Given the description of an element on the screen output the (x, y) to click on. 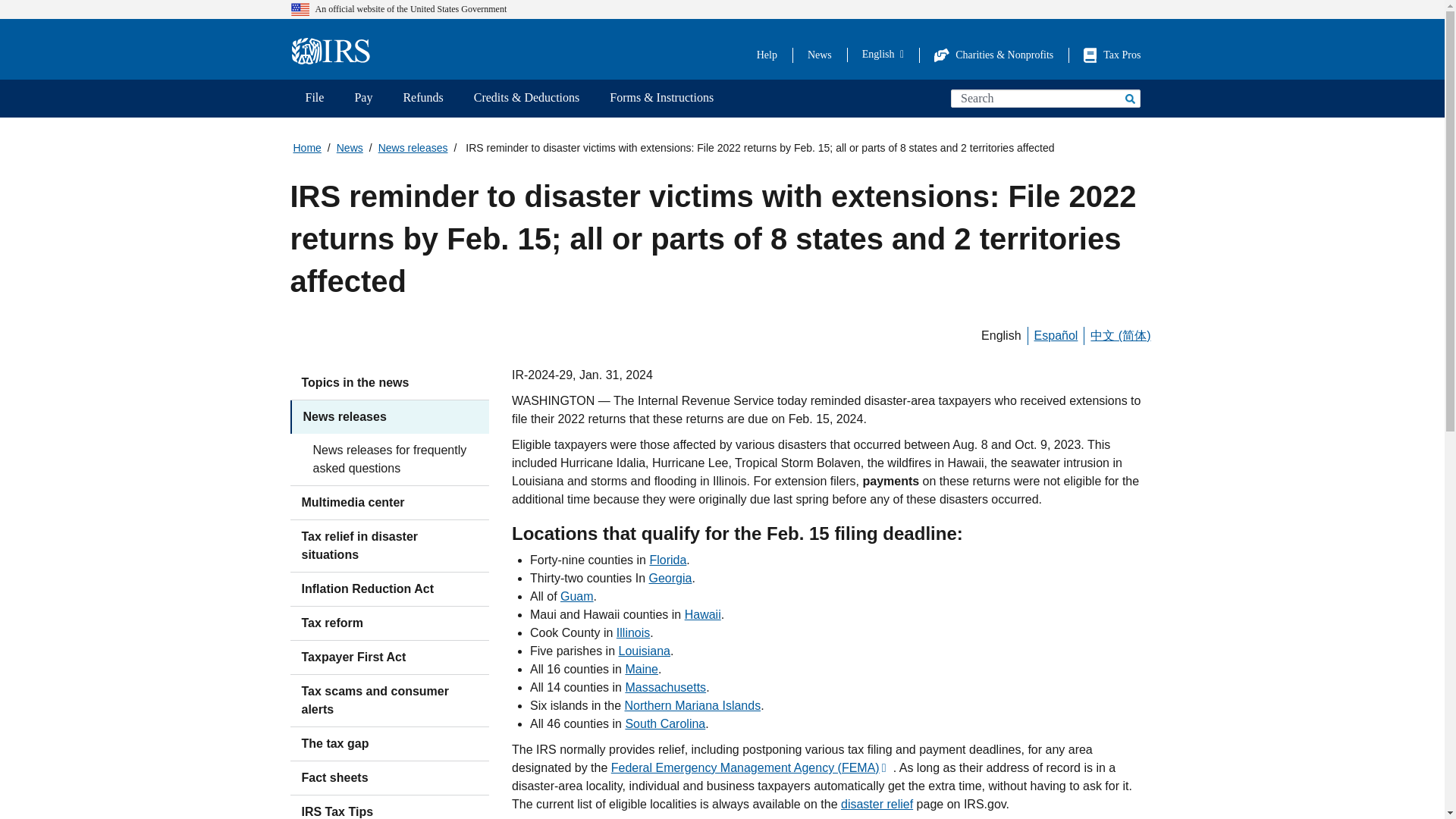
Tax Pros (1111, 55)
English (882, 54)
Pay (363, 98)
Home (335, 51)
Search (1129, 98)
File (314, 98)
